Given the description of an element on the screen output the (x, y) to click on. 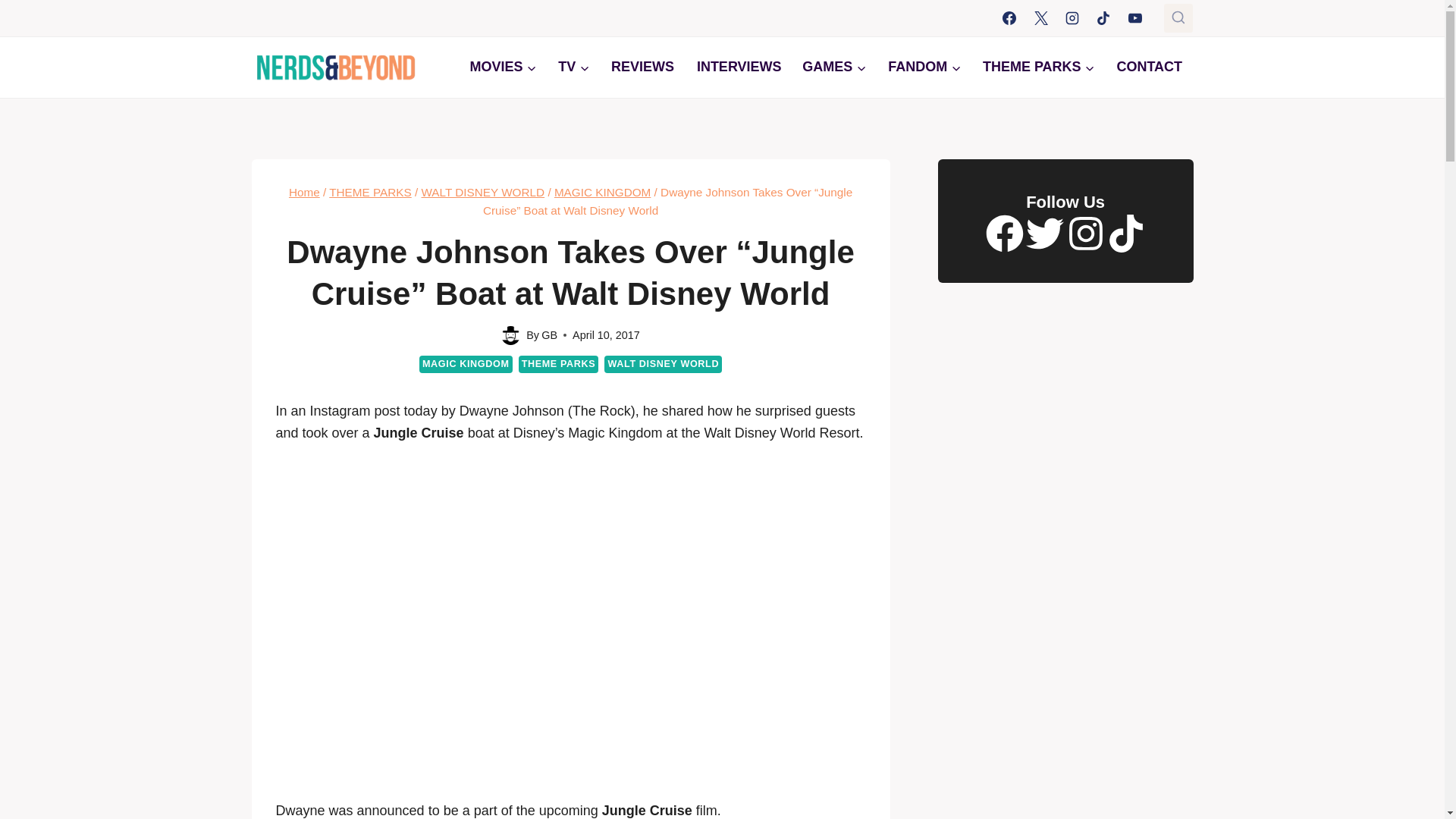
TV (573, 66)
MOVIES (502, 66)
